Given the description of an element on the screen output the (x, y) to click on. 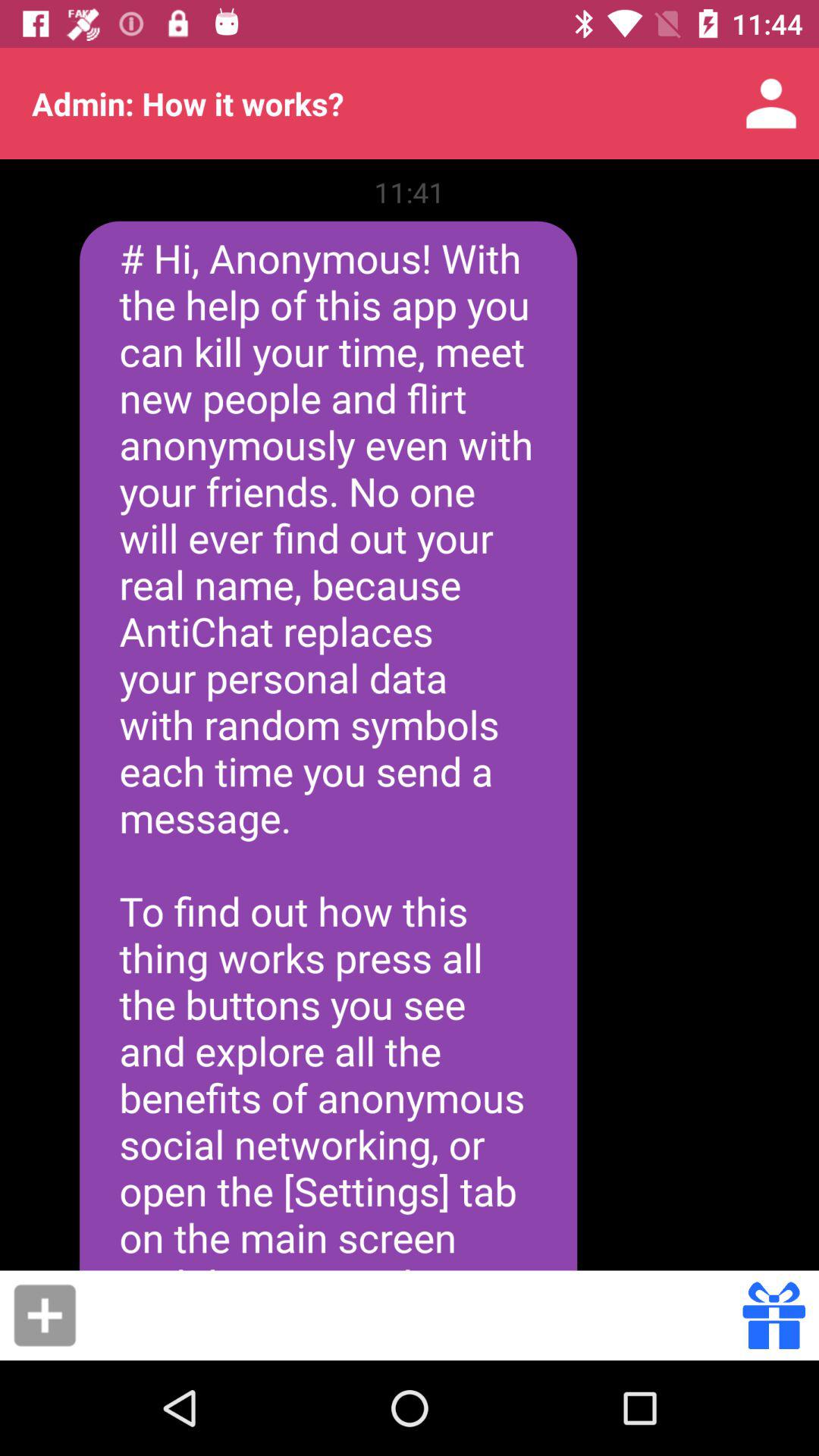
turn on the item below the hi anonymous with icon (44, 1315)
